Given the description of an element on the screen output the (x, y) to click on. 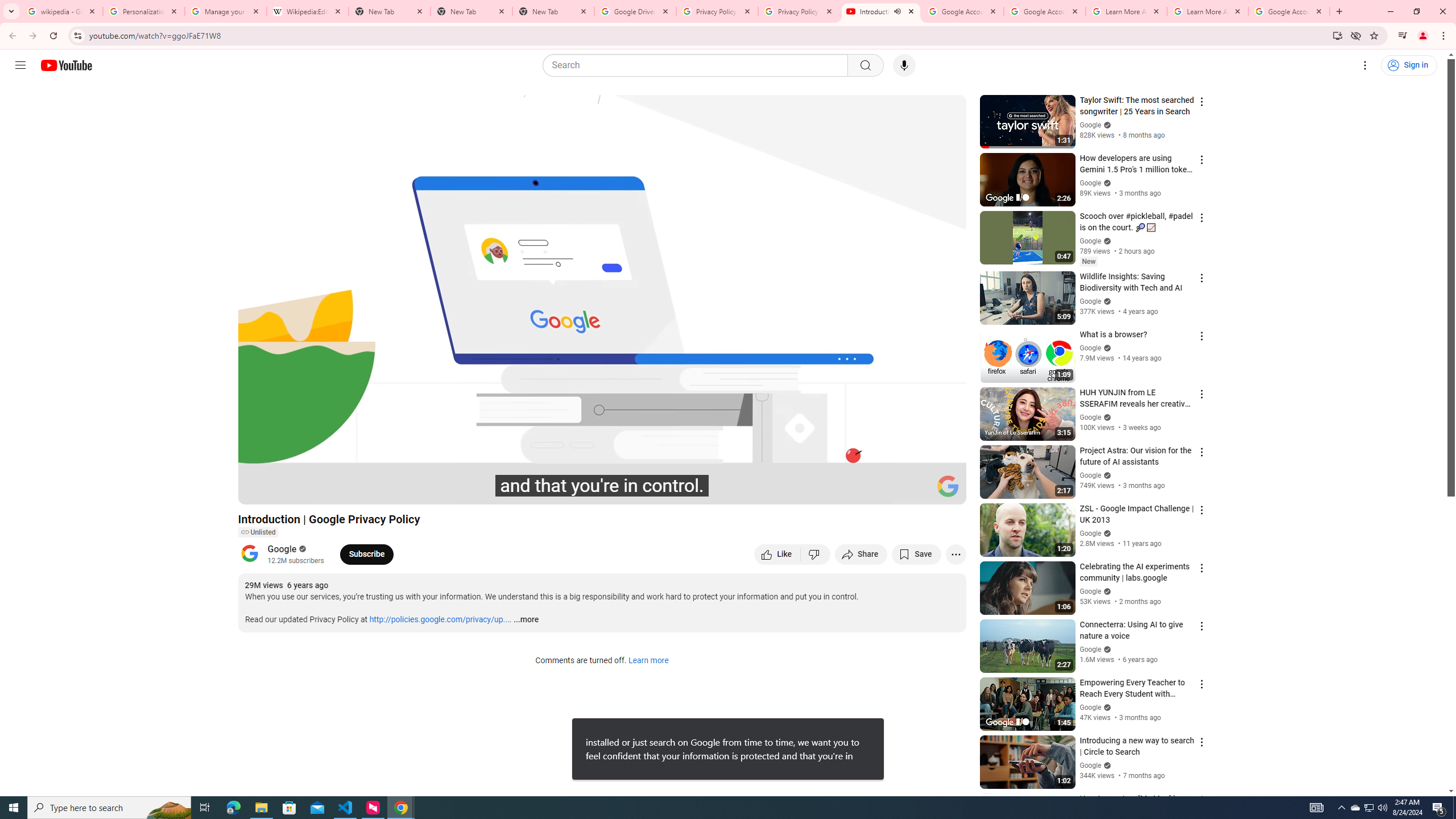
Pause (k) (257, 490)
Learn more (647, 661)
Search with your voice (903, 65)
Seek slider (601, 476)
Save to playlist (915, 554)
